Given the description of an element on the screen output the (x, y) to click on. 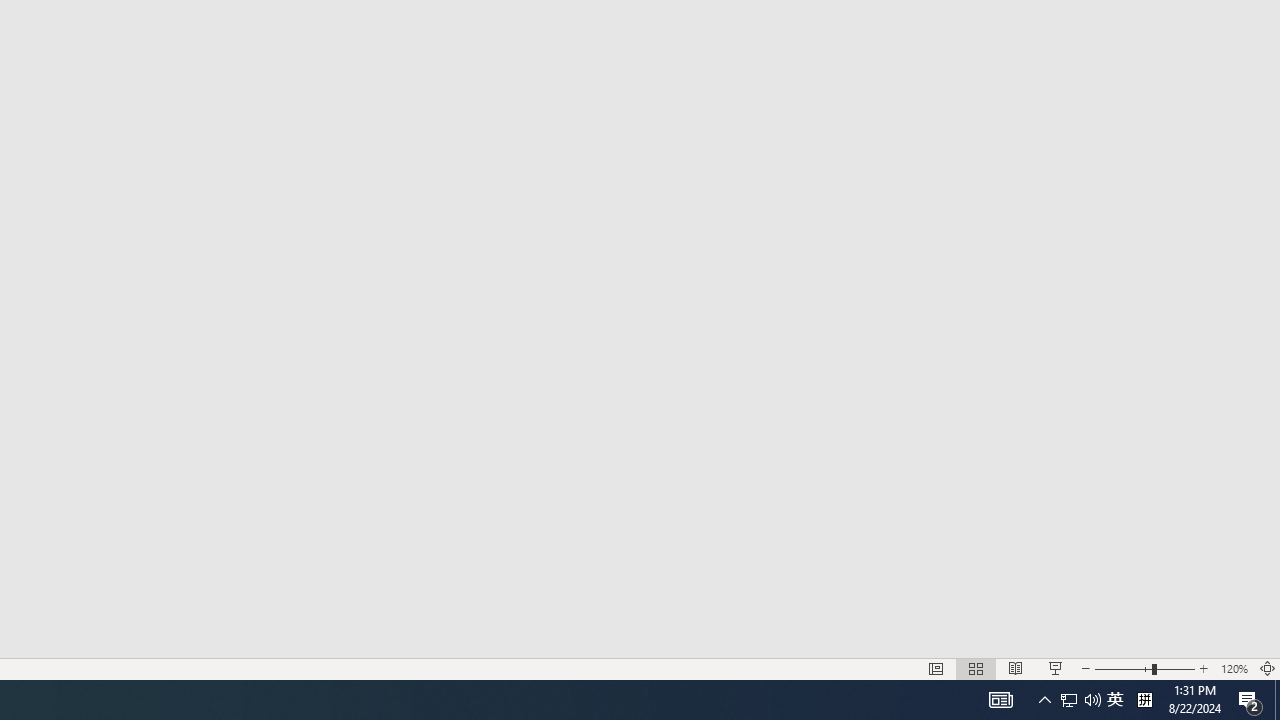
Zoom 120% (1234, 668)
